Given the description of an element on the screen output the (x, y) to click on. 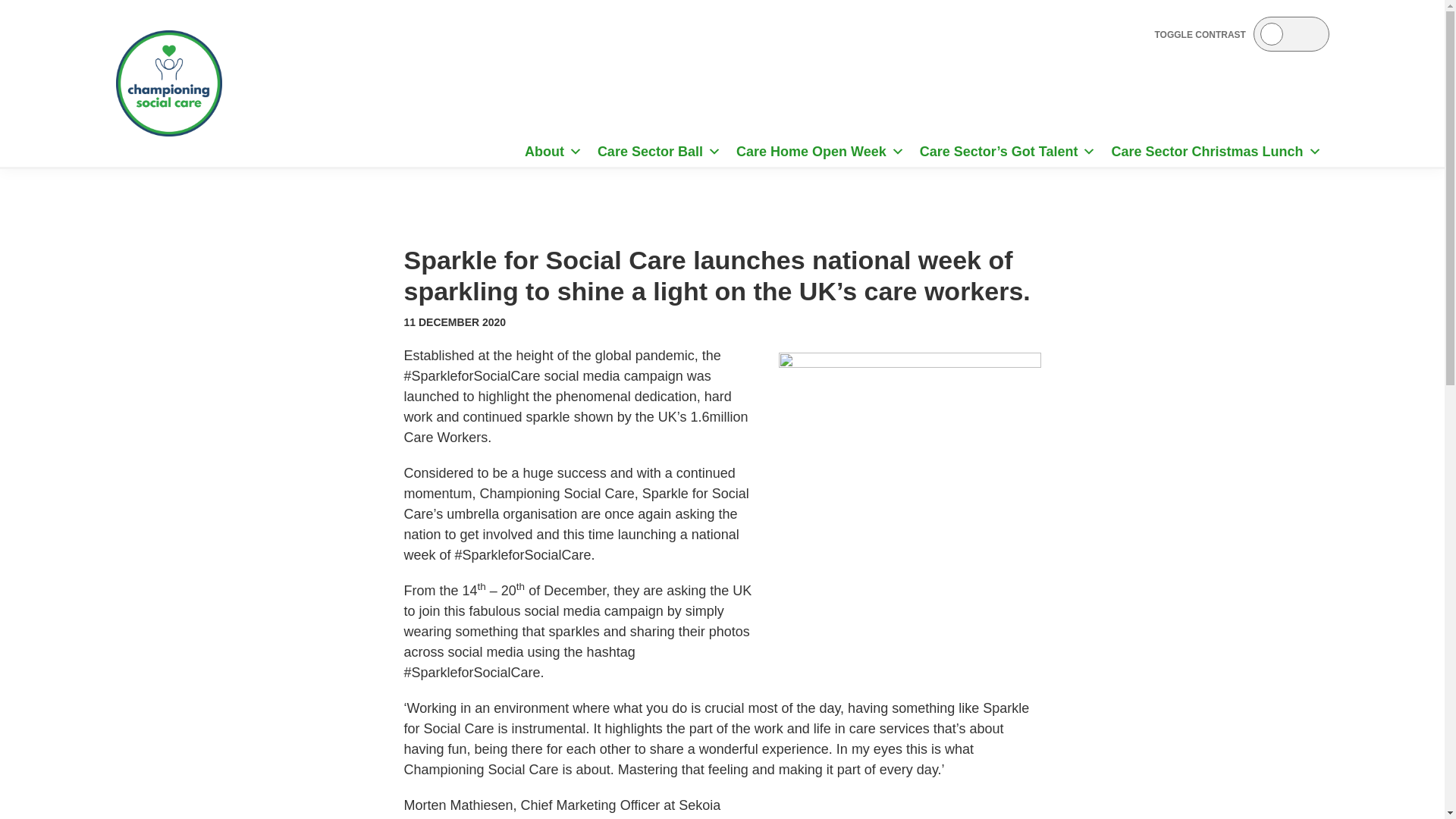
Care Sector Ball (659, 151)
Care Home Open Week (820, 151)
Care Sector Christmas Lunch (1215, 151)
About (552, 151)
